Given the description of an element on the screen output the (x, y) to click on. 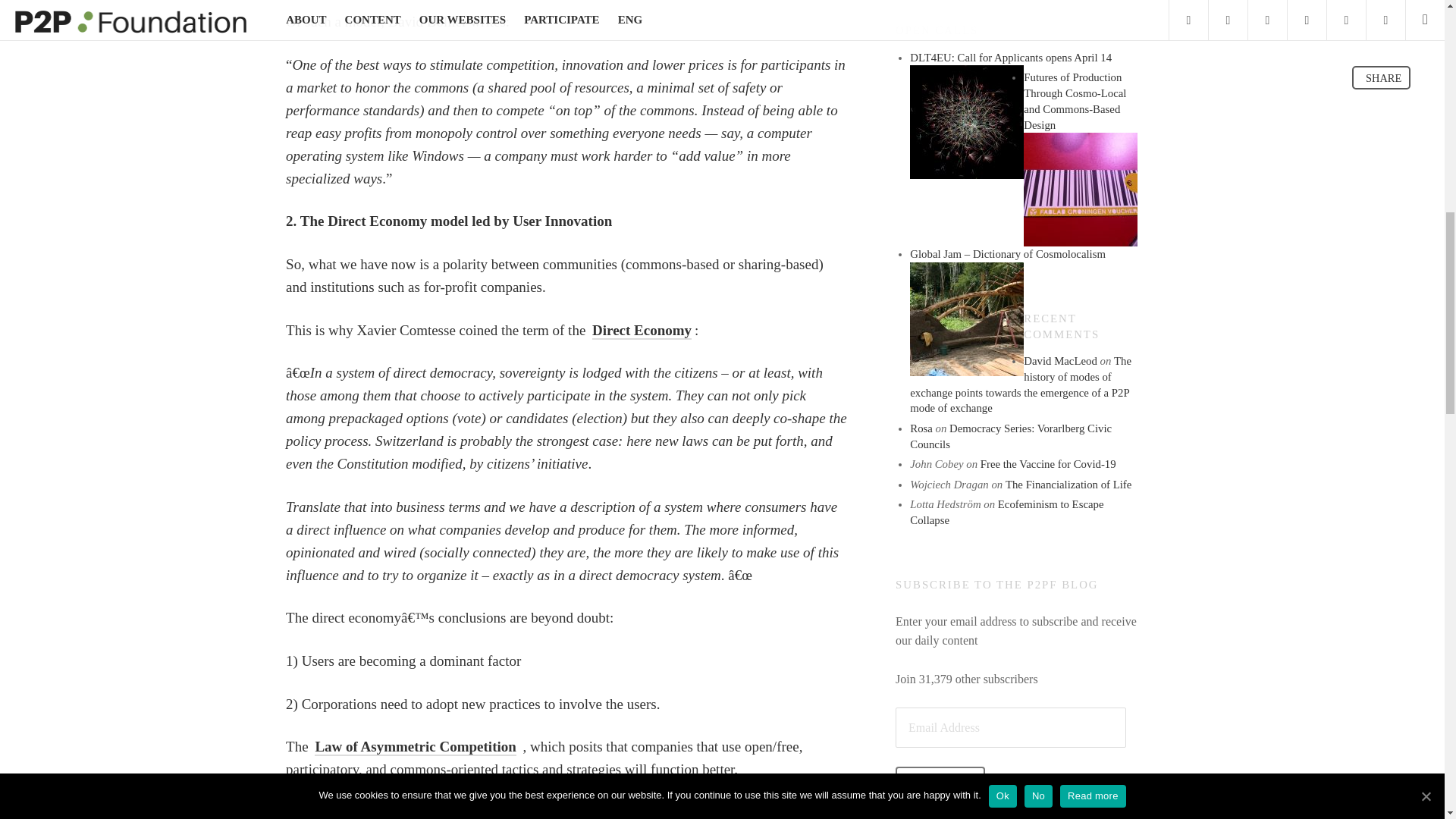
DLT4EU: Call for Applicants opens April 14 (966, 122)
